Given the description of an element on the screen output the (x, y) to click on. 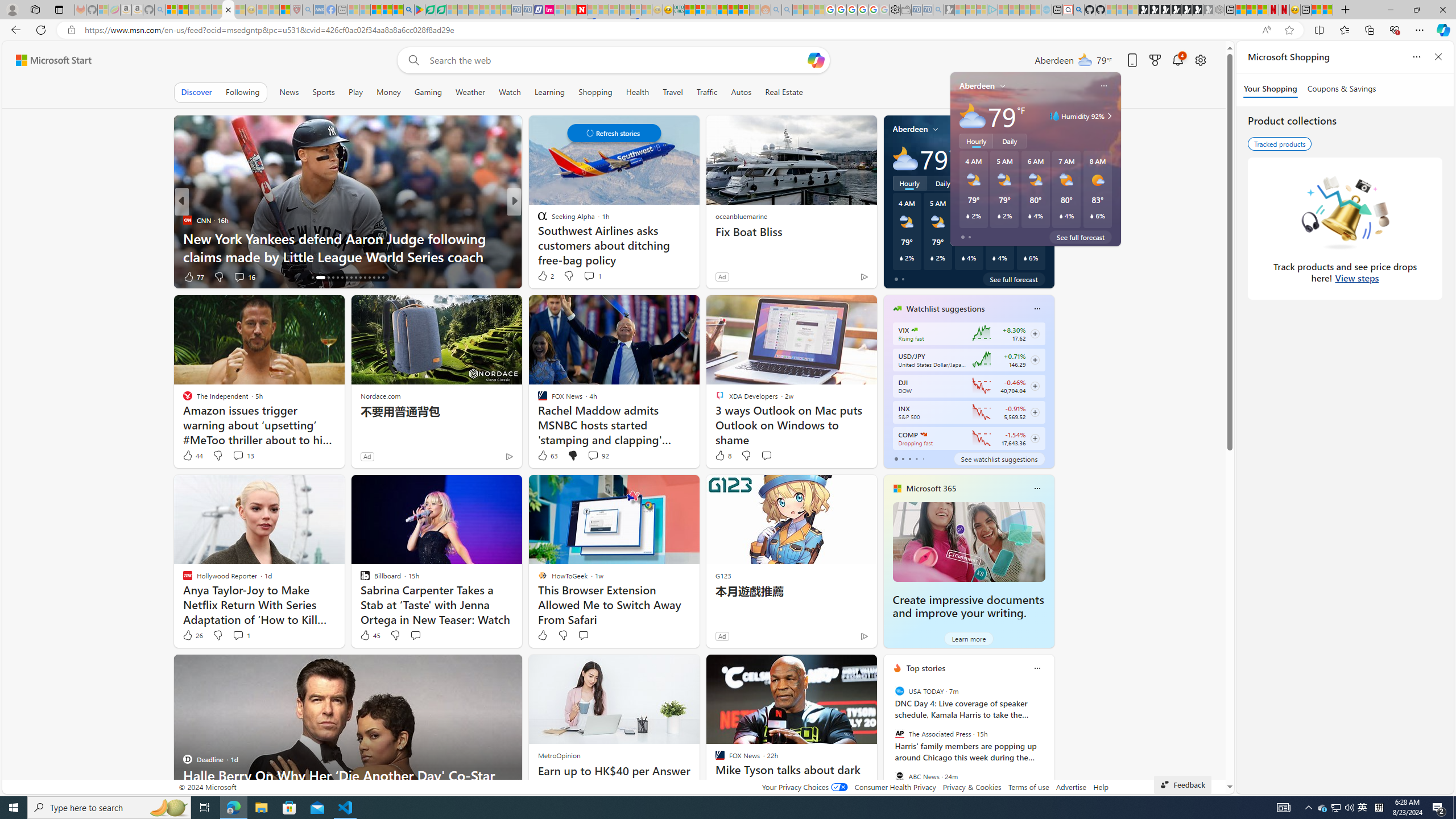
save70.com (200, 219)
Microsoft Word - consumer-privacy address update 2.2021 (440, 9)
View comments 92 Comment (597, 455)
AutomationID: tab-29 (378, 277)
